Given the description of an element on the screen output the (x, y) to click on. 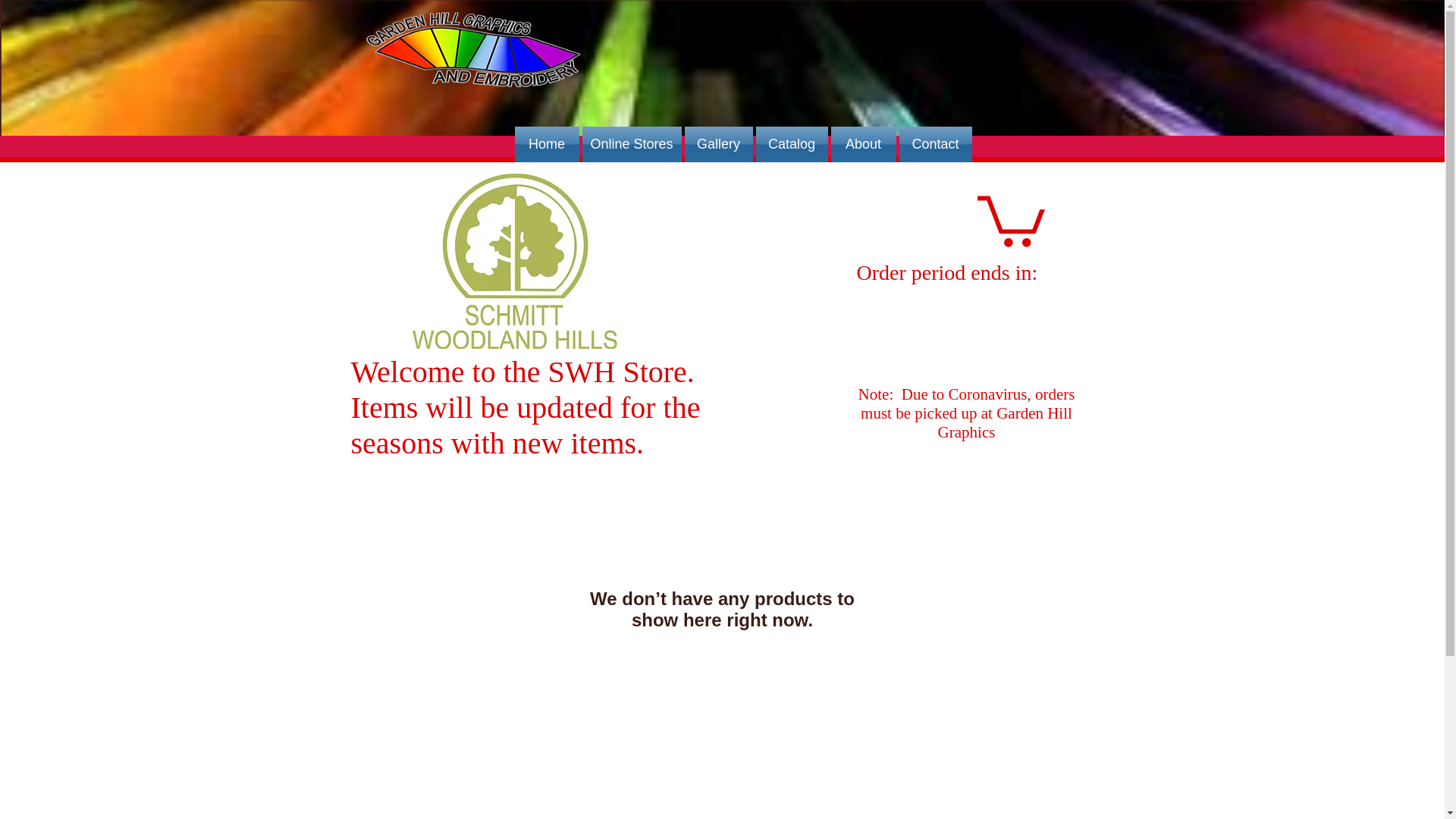
Online Stores (631, 144)
Gallery (718, 144)
Home (546, 144)
Contact (935, 144)
About (863, 144)
Catalog (791, 144)
